Given the description of an element on the screen output the (x, y) to click on. 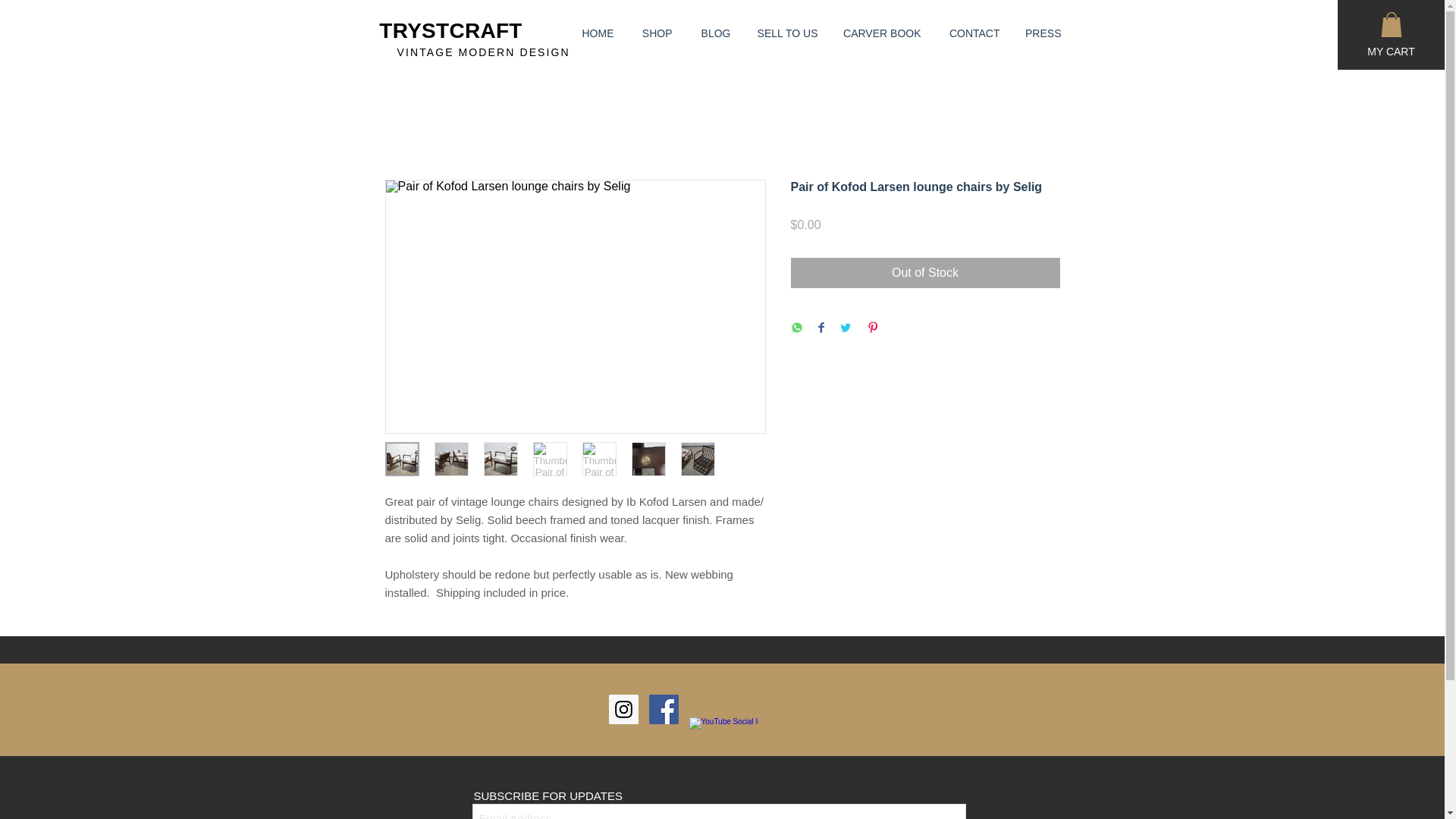
Out of Stock (924, 272)
CARVER BOOK (881, 33)
SELL TO US (784, 33)
PRESS (1042, 33)
BLOG (713, 33)
SHOP (653, 33)
CONTACT (972, 33)
TRYSTCRAFT (449, 30)
HOME (593, 33)
